Given the description of an element on the screen output the (x, y) to click on. 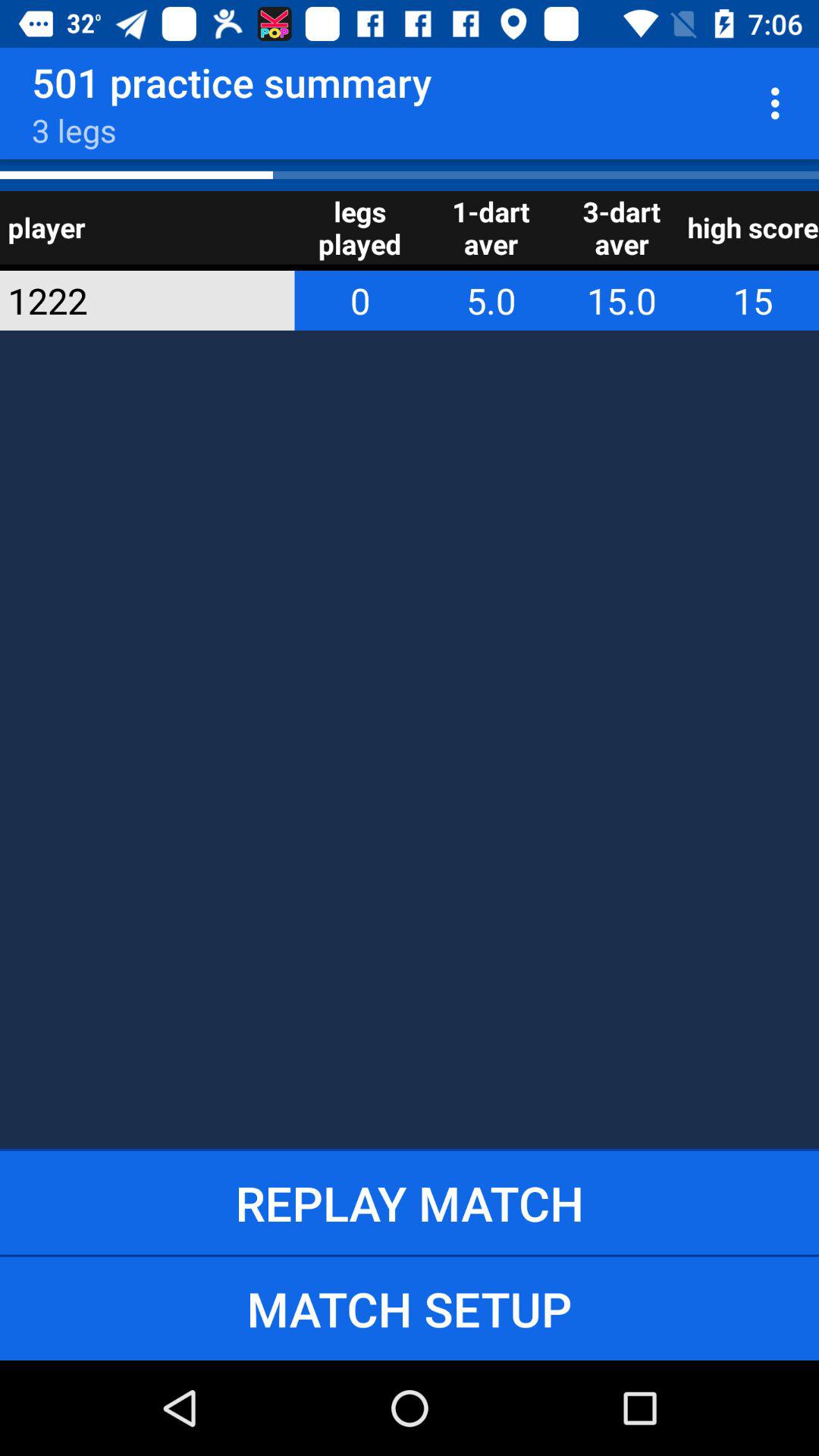
turn off app below player (126, 300)
